Given the description of an element on the screen output the (x, y) to click on. 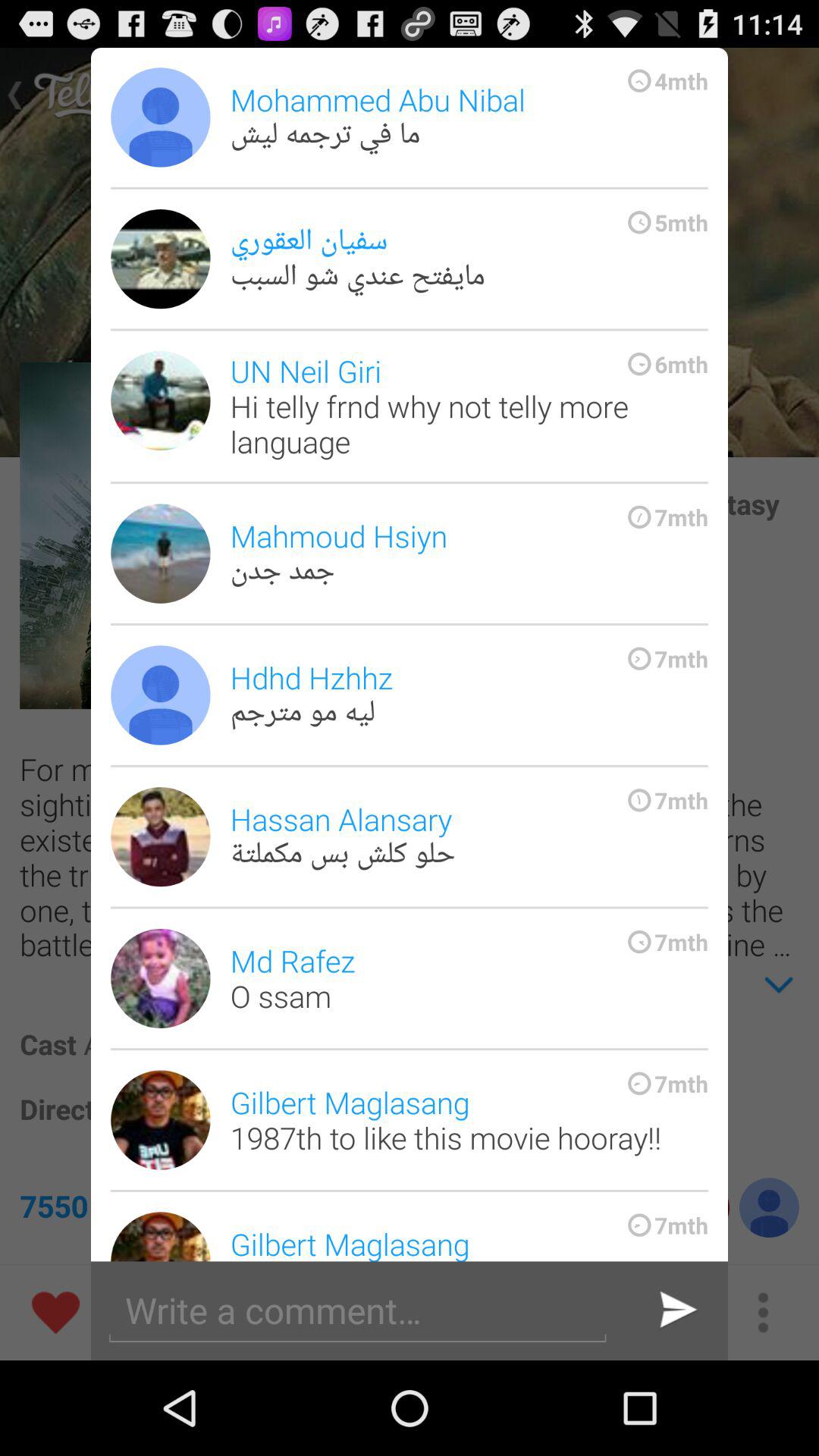
press icon below gilbert maglasang 1988th icon (676, 1310)
